Given the description of an element on the screen output the (x, y) to click on. 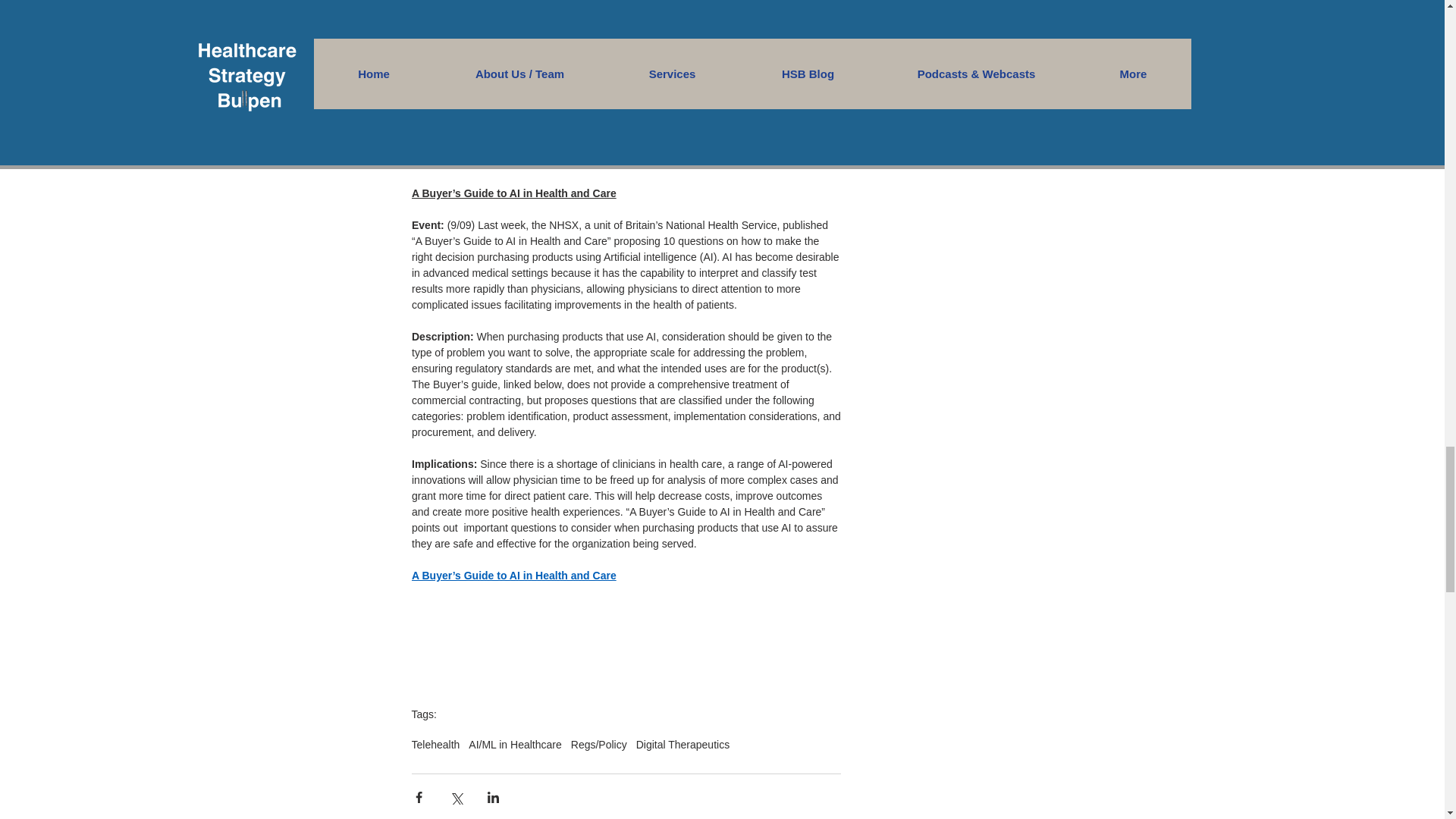
5 CTA members leading the digital therapeutics frontier (550, 145)
Digital Therapeutics (682, 744)
Telehealth (435, 744)
